Given the description of an element on the screen output the (x, y) to click on. 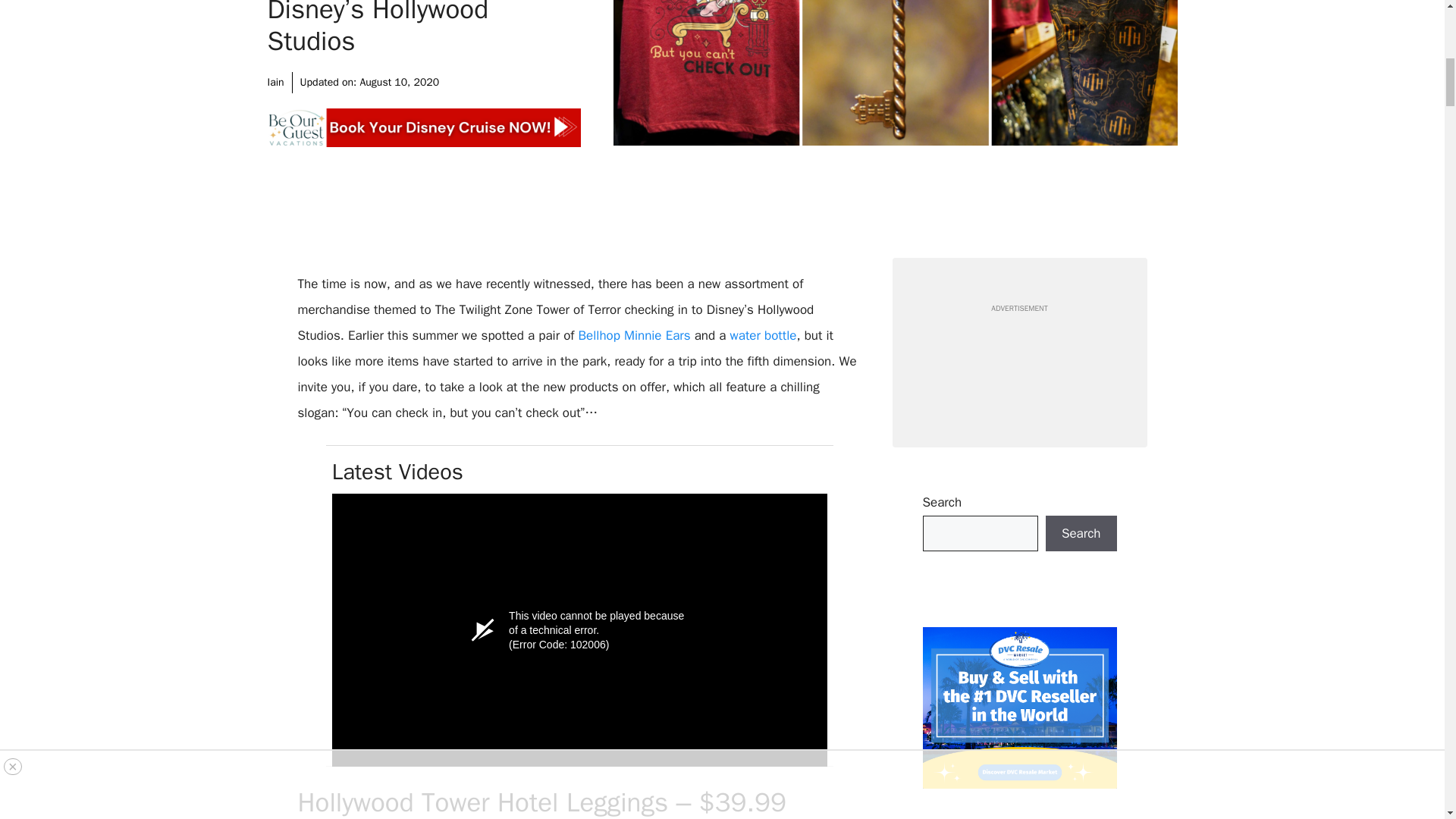
Bellhop Minnie Ears (634, 335)
water bottle (763, 335)
Iain (274, 82)
